Given the description of an element on the screen output the (x, y) to click on. 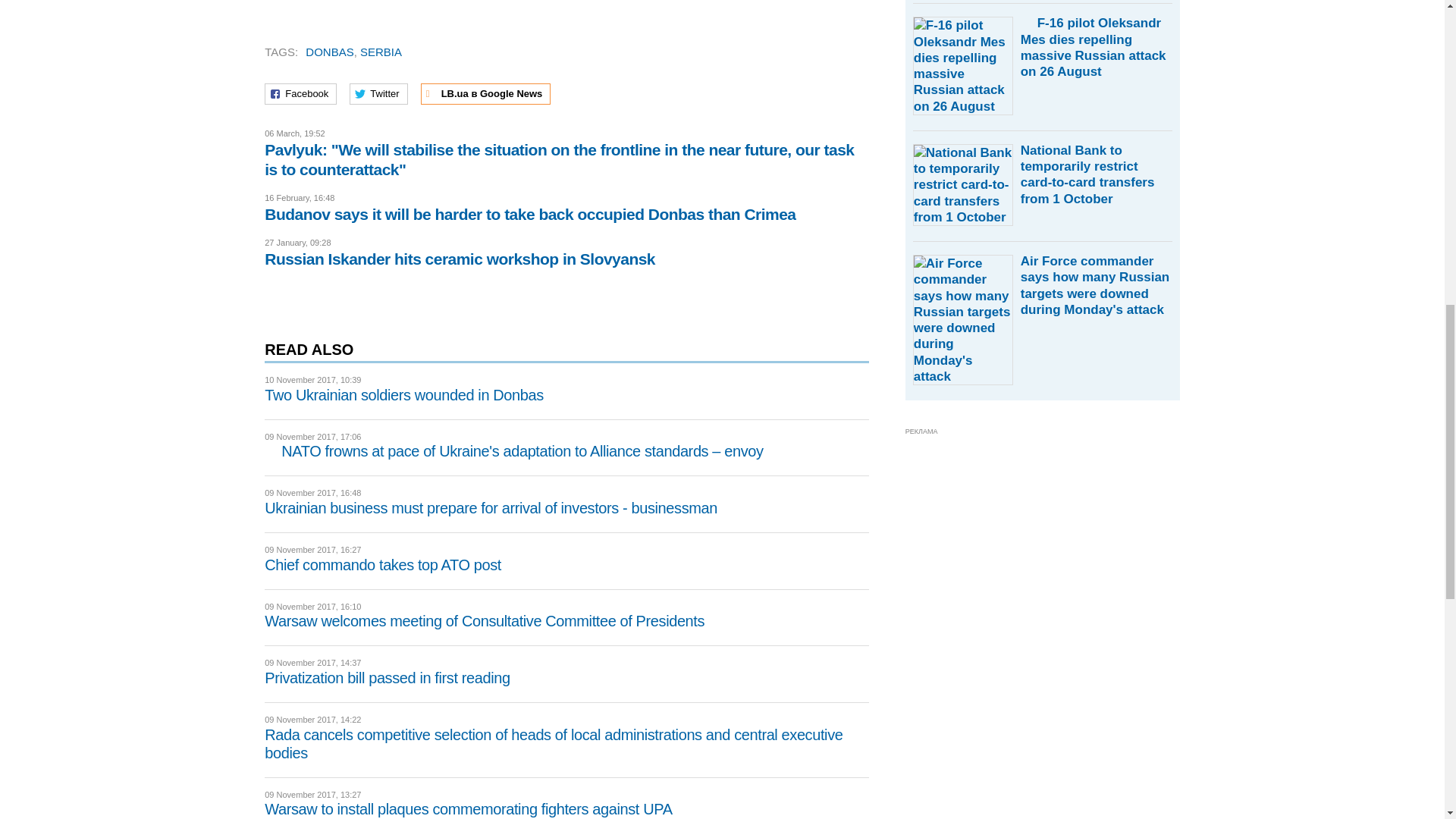
Two Ukrainian soldiers wounded in Donbas (403, 394)
Russian Iskander hits ceramic workshop in Slovyansk (459, 258)
DONBAS (329, 51)
Warsaw to install plaques commemorating fighters against UPA (467, 808)
Privatization bill passed in first reading (386, 677)
Chief commando takes top ATO post (382, 564)
SERBIA (380, 51)
